Given the description of an element on the screen output the (x, y) to click on. 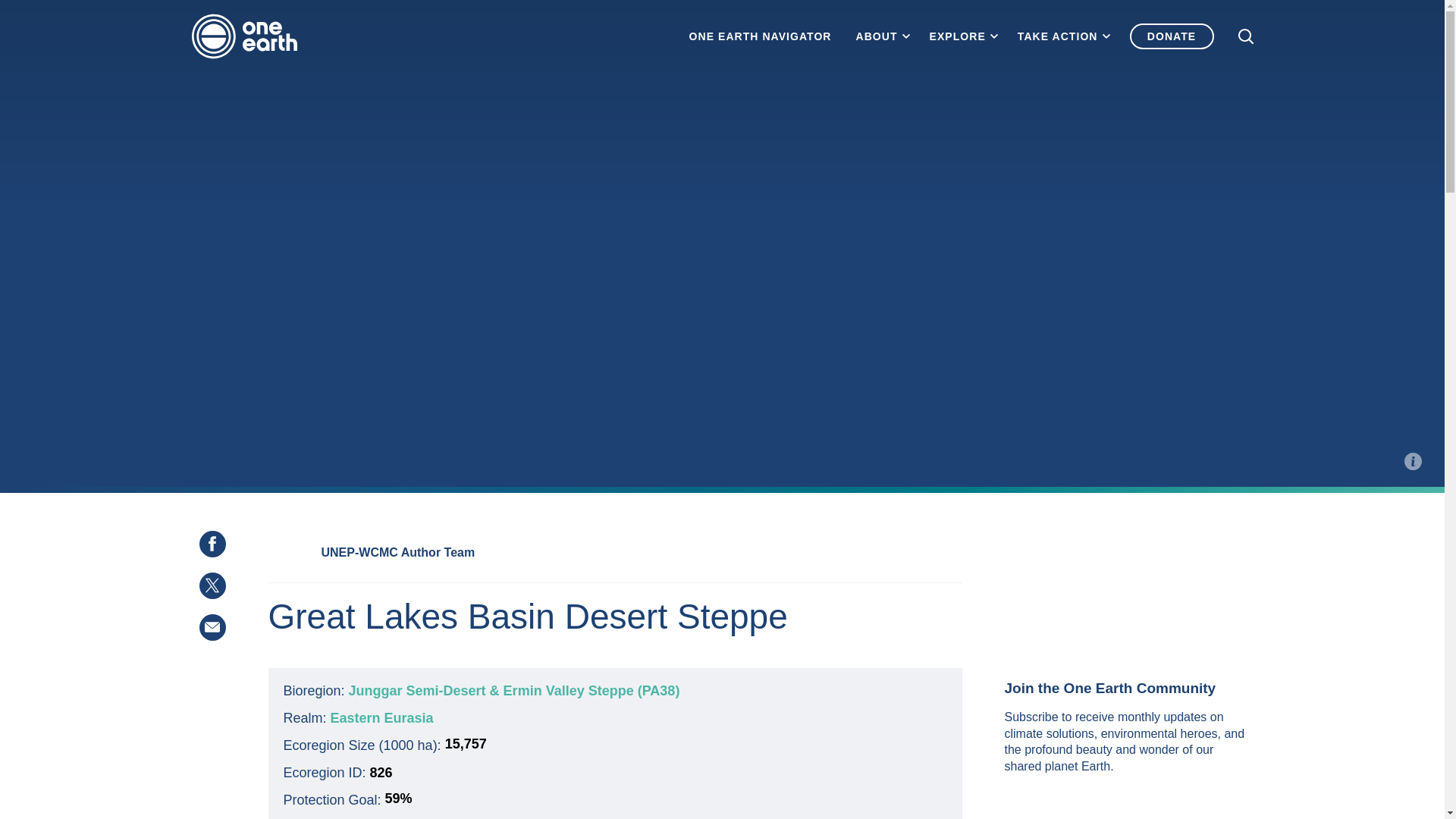
TAKE ACTION (1057, 36)
One Earth (248, 36)
ONE EARTH NAVIGATOR (759, 36)
DONATE (1171, 36)
